Given the description of an element on the screen output the (x, y) to click on. 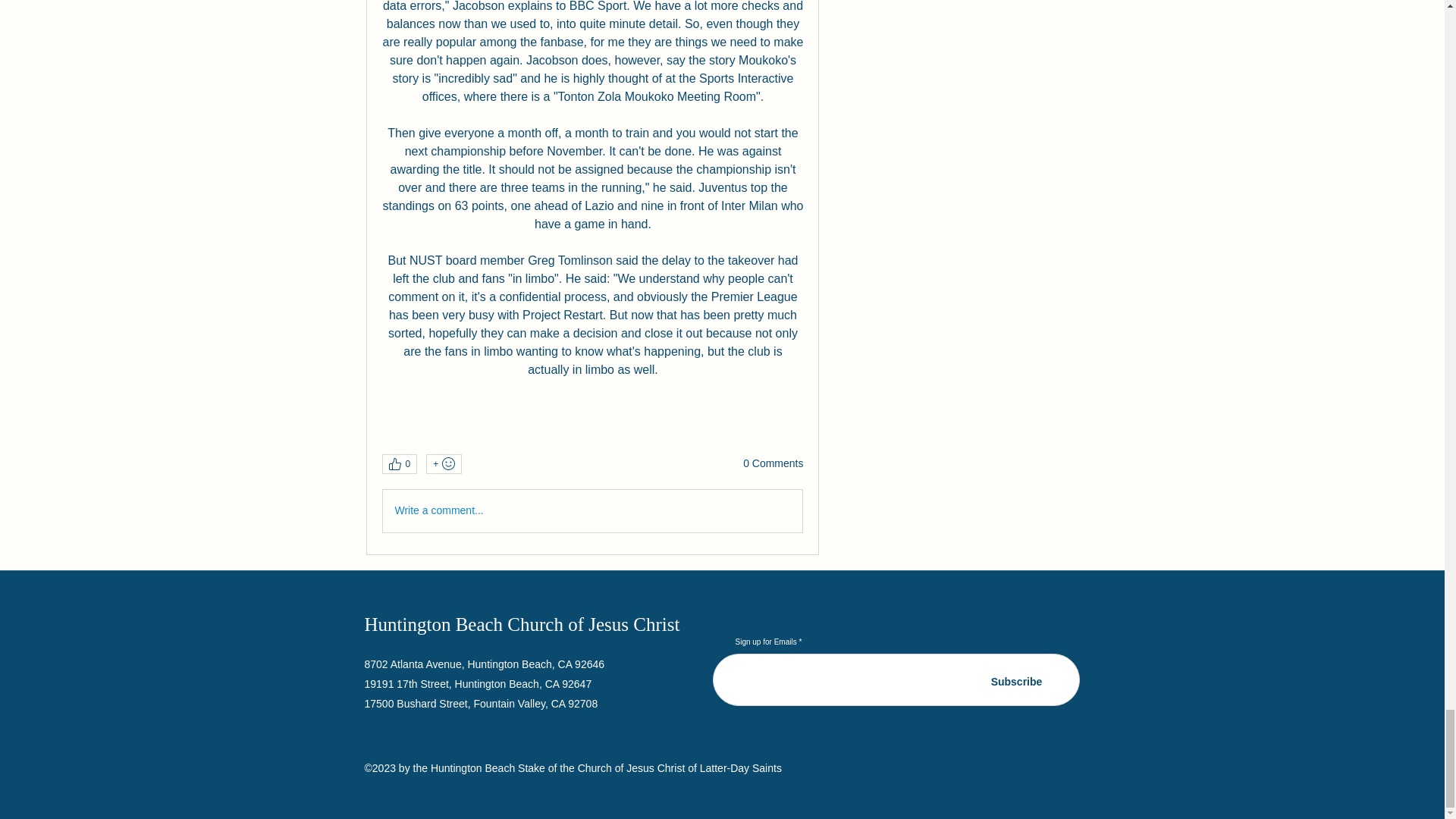
Write a comment... (591, 510)
0 Comments (772, 463)
